Given the description of an element on the screen output the (x, y) to click on. 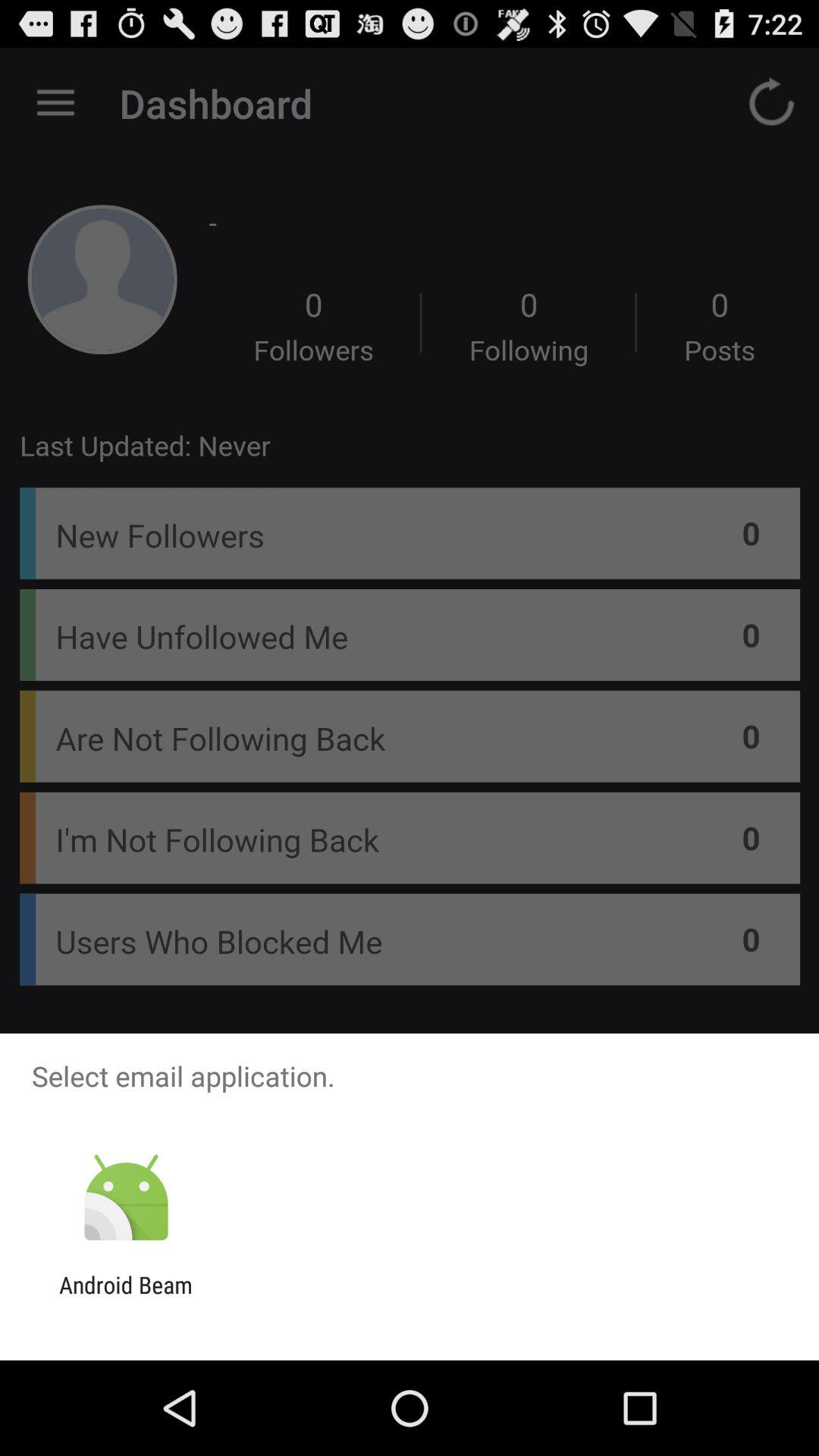
tap the app above android beam app (126, 1198)
